Given the description of an element on the screen output the (x, y) to click on. 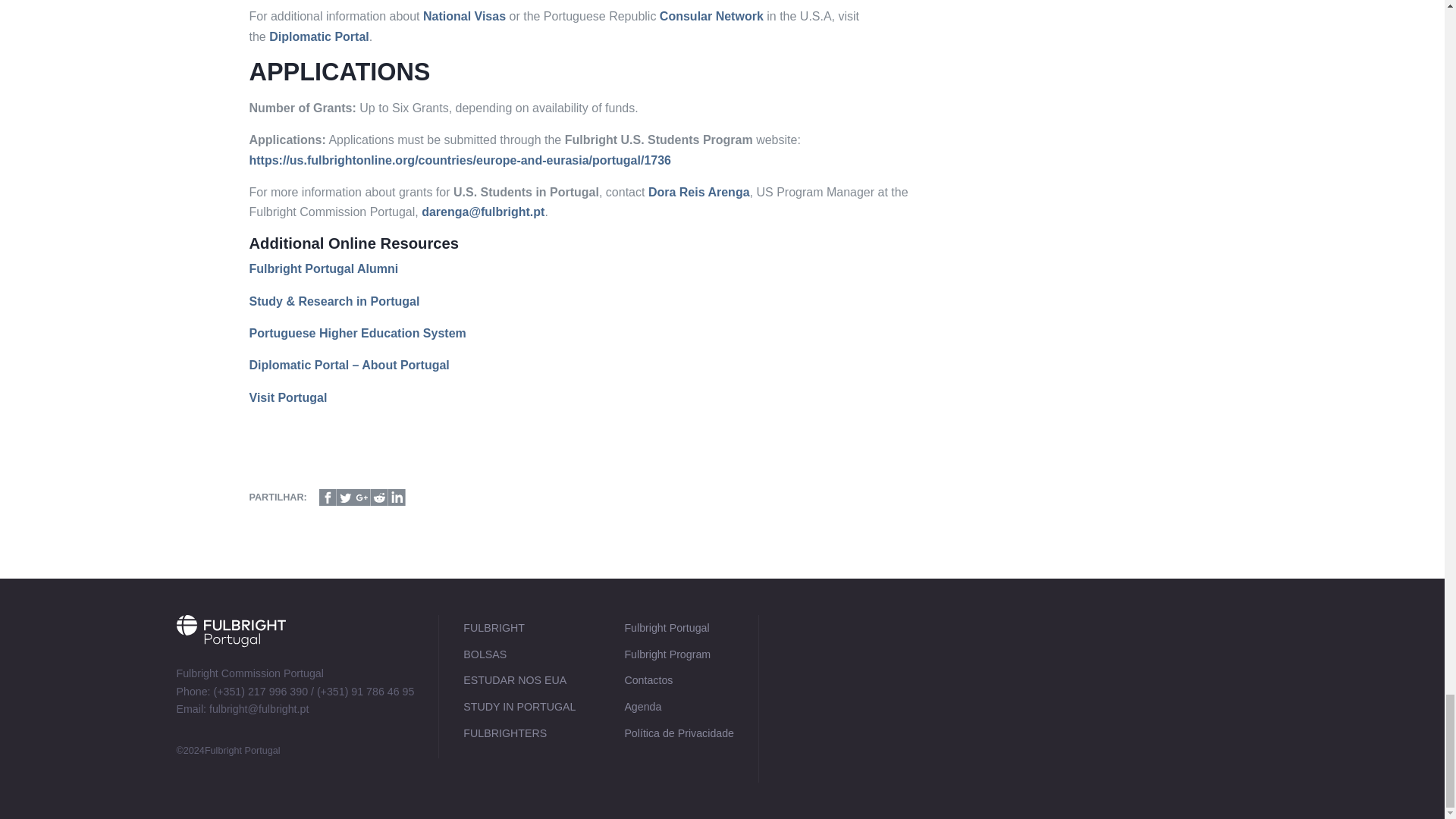
BOLSAS (519, 654)
Fulbright Portugal Alumni (322, 268)
Consular Network (710, 15)
ESTUDAR NOS EUA (519, 681)
FULBRIGHT (519, 628)
Diplomatic Portal (319, 36)
National Visas (464, 15)
National Visas (464, 15)
Visit Portugal (287, 397)
LogoFulbright Created with Sketch. (230, 655)
